Given the description of an element on the screen output the (x, y) to click on. 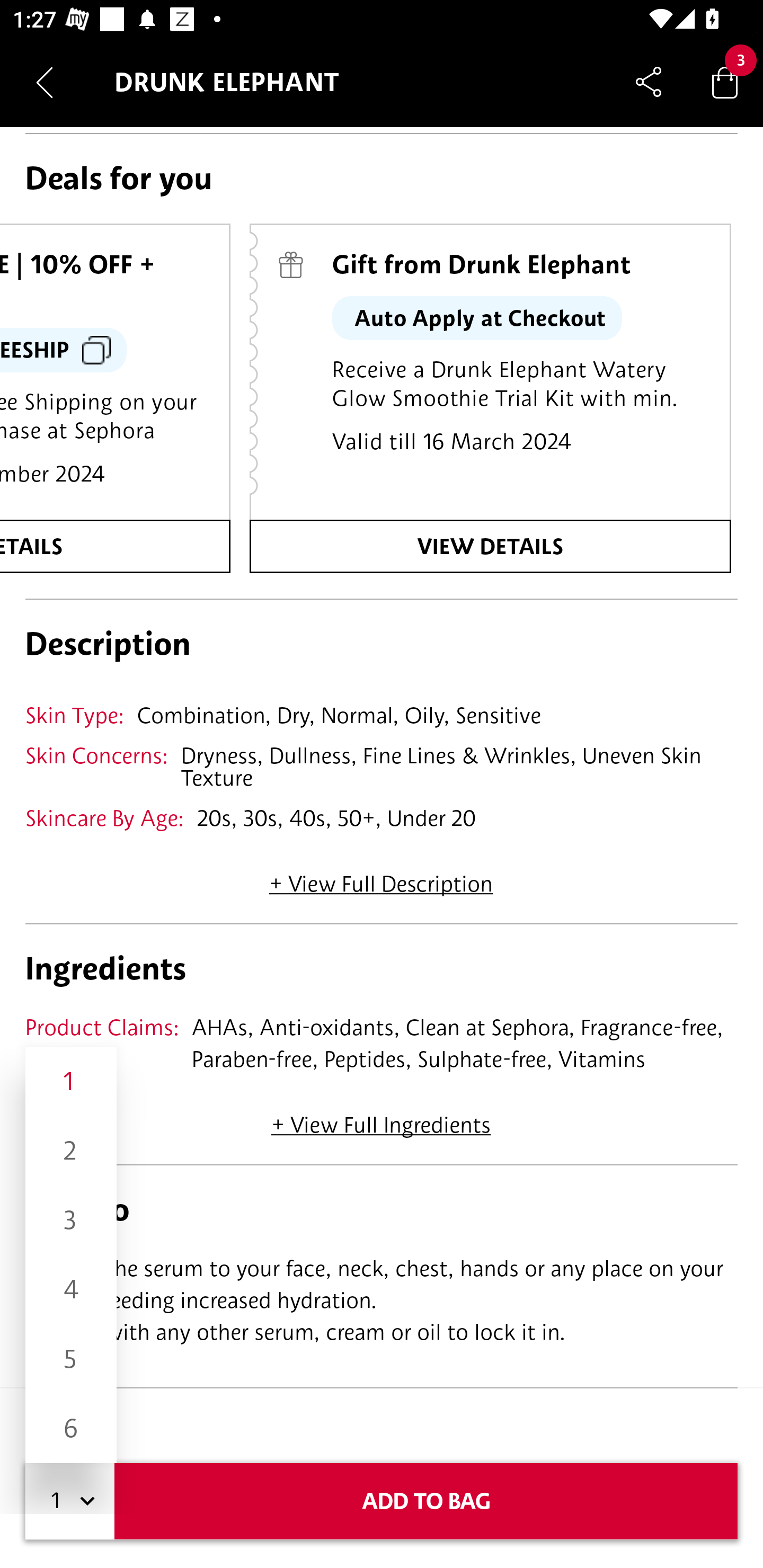
1 (70, 1081)
2 (70, 1150)
3 (70, 1219)
4 (70, 1289)
5 (70, 1358)
6 (70, 1427)
